Given the description of an element on the screen output the (x, y) to click on. 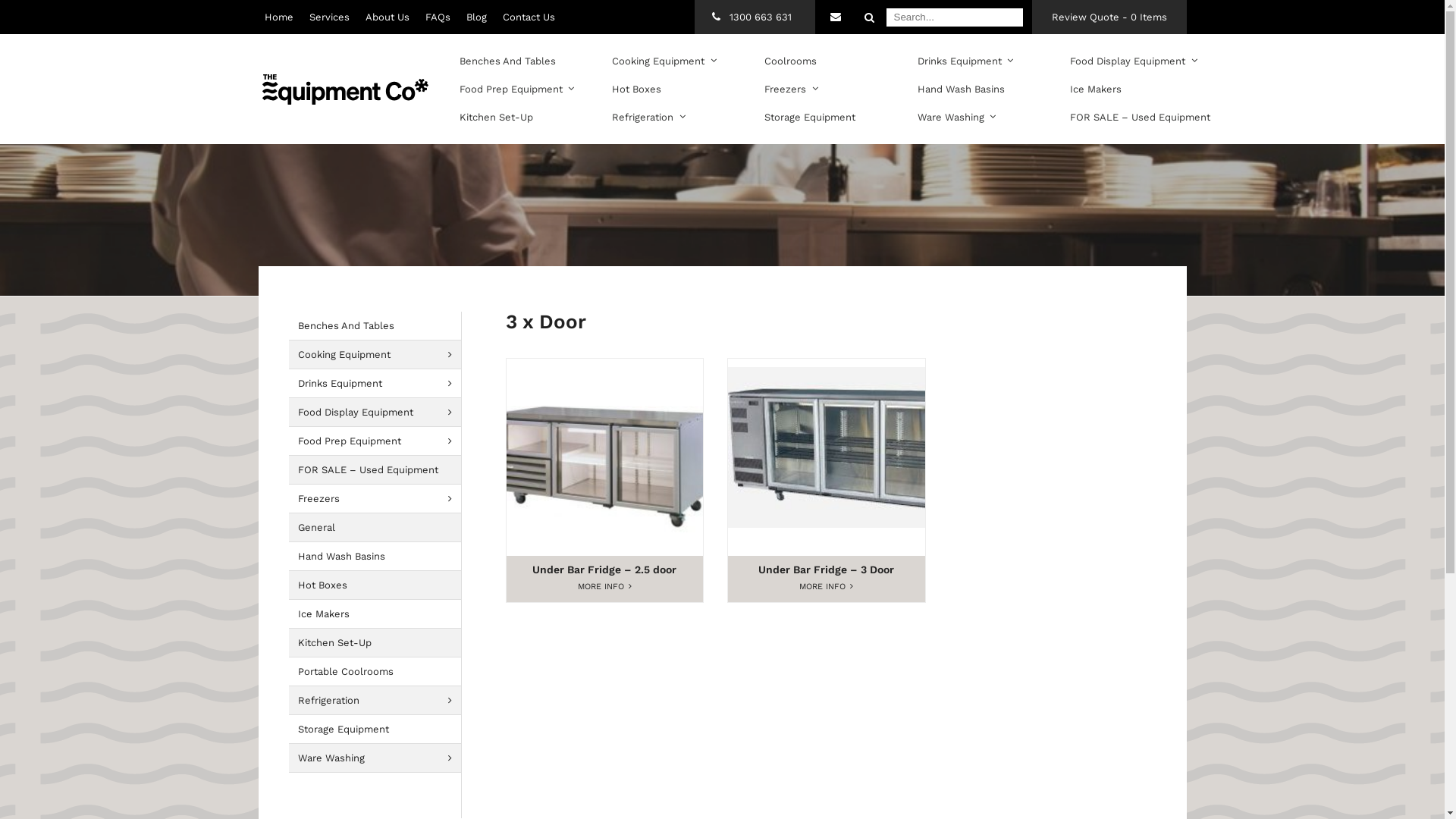
Hot Boxes Element type: text (636, 88)
Home Element type: text (277, 16)
Hand Wash Basins Element type: text (379, 556)
Food Display Equipment Element type: text (1130, 60)
Refrigeration Element type: text (379, 700)
FAQs Element type: text (436, 16)
General Element type: text (379, 527)
Hand Wash Basins Element type: text (960, 88)
Freezers Element type: text (379, 498)
Food Display Equipment Element type: text (379, 412)
Coolrooms Element type: text (790, 60)
Review Quote - 0 Items Element type: text (1108, 16)
Food Prep Equipment Element type: text (379, 440)
Ware Washing Element type: text (379, 757)
Ware Washing Element type: text (953, 116)
Hot Boxes Element type: text (379, 585)
Ice Makers Element type: text (1095, 88)
Contact Us Element type: hover (834, 17)
Drinks Equipment Element type: text (379, 383)
Kitchen Set-Up Element type: text (379, 642)
Kitchen Set-Up Element type: text (496, 116)
Cooking Equipment Element type: text (379, 354)
Freezers Element type: text (788, 88)
Portable Coolrooms Element type: text (379, 671)
Blog Element type: text (475, 16)
Contact Us Element type: text (527, 16)
Food Prep Equipment Element type: text (513, 88)
Refrigeration Element type: text (645, 116)
Services Element type: text (329, 16)
Storage Equipment Element type: text (379, 729)
About Us Element type: text (387, 16)
Benches And Tables Element type: text (507, 60)
Cooking Equipment Element type: text (660, 60)
Benches And Tables Element type: text (379, 325)
Ice Makers Element type: text (379, 613)
Drinks Equipment Element type: text (962, 60)
1300 663 631 Element type: text (754, 16)
Storage Equipment Element type: text (809, 116)
